Given the description of an element on the screen output the (x, y) to click on. 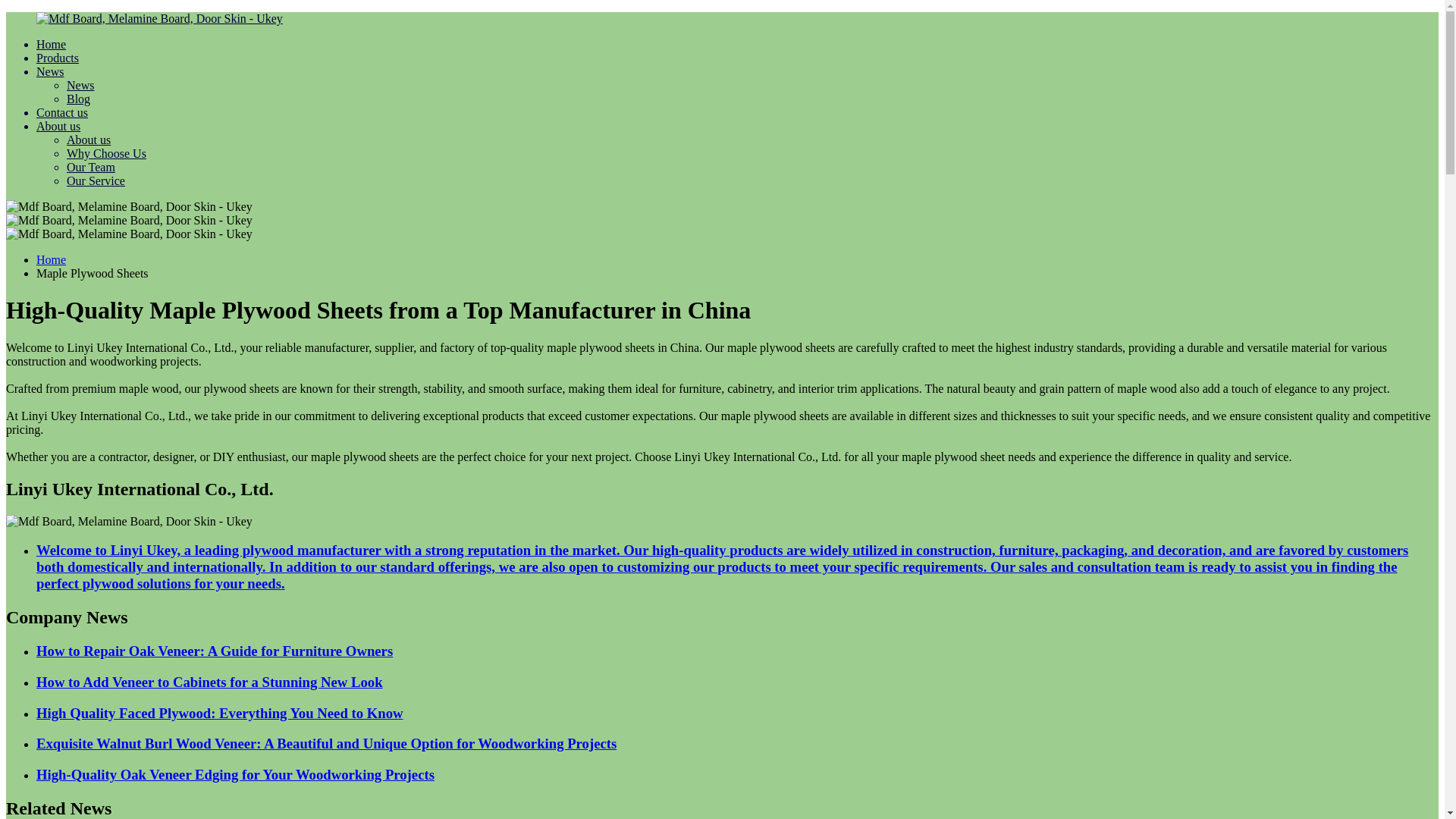
Contact us (61, 112)
Home (50, 43)
News (50, 71)
About us (88, 139)
About us (58, 125)
Our Team (90, 166)
News (80, 84)
Why Choose Us (106, 153)
Products (57, 57)
Blog (78, 98)
Home (50, 259)
Our Service (95, 180)
